Given the description of an element on the screen output the (x, y) to click on. 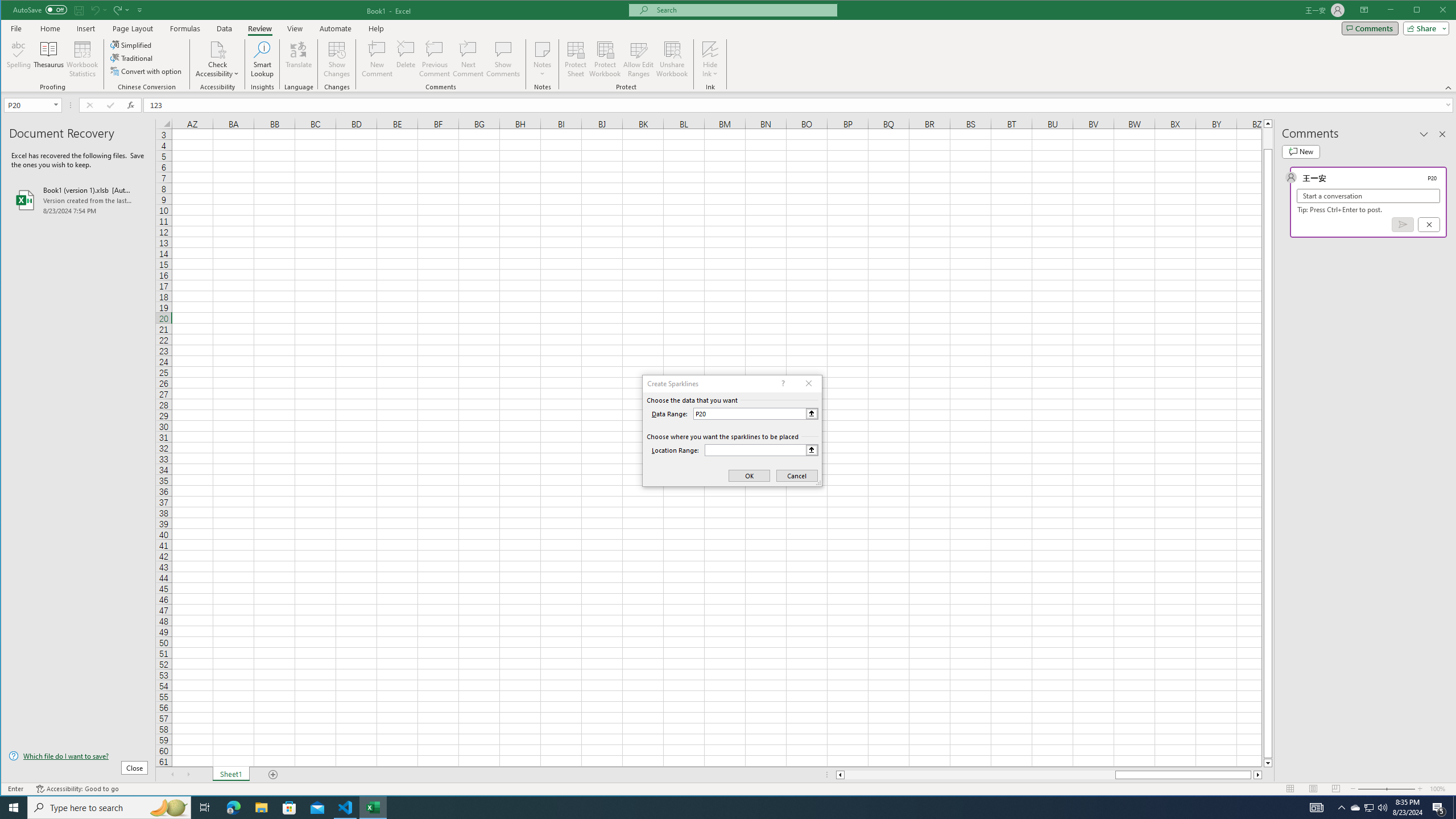
Cancel (1428, 224)
Delete (405, 59)
Allow Edit Ranges (638, 59)
Simplified (132, 44)
